Given the description of an element on the screen output the (x, y) to click on. 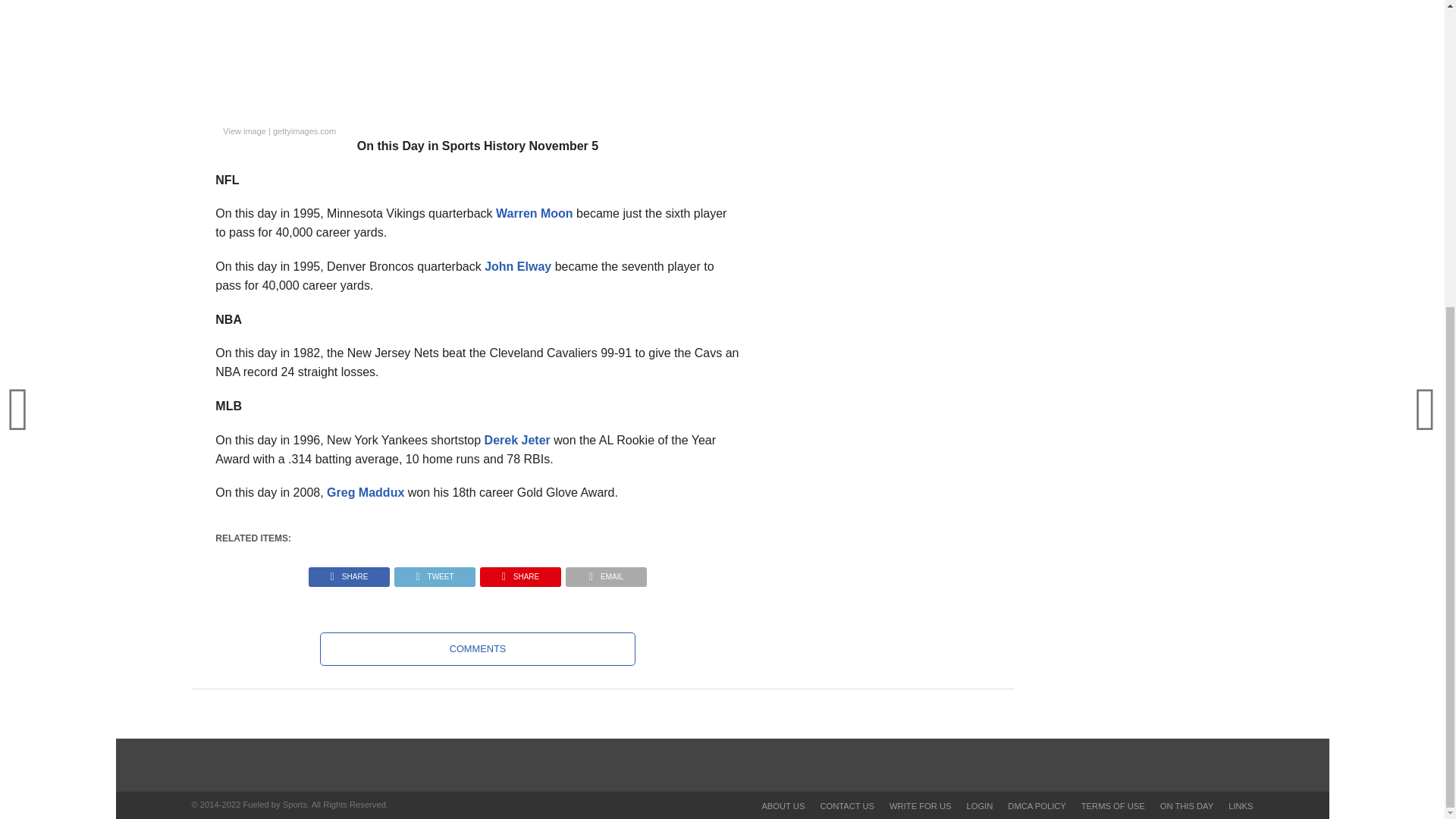
Tweet This Post (434, 572)
Pin This Post (520, 572)
Share on Facebook (349, 572)
